Given the description of an element on the screen output the (x, y) to click on. 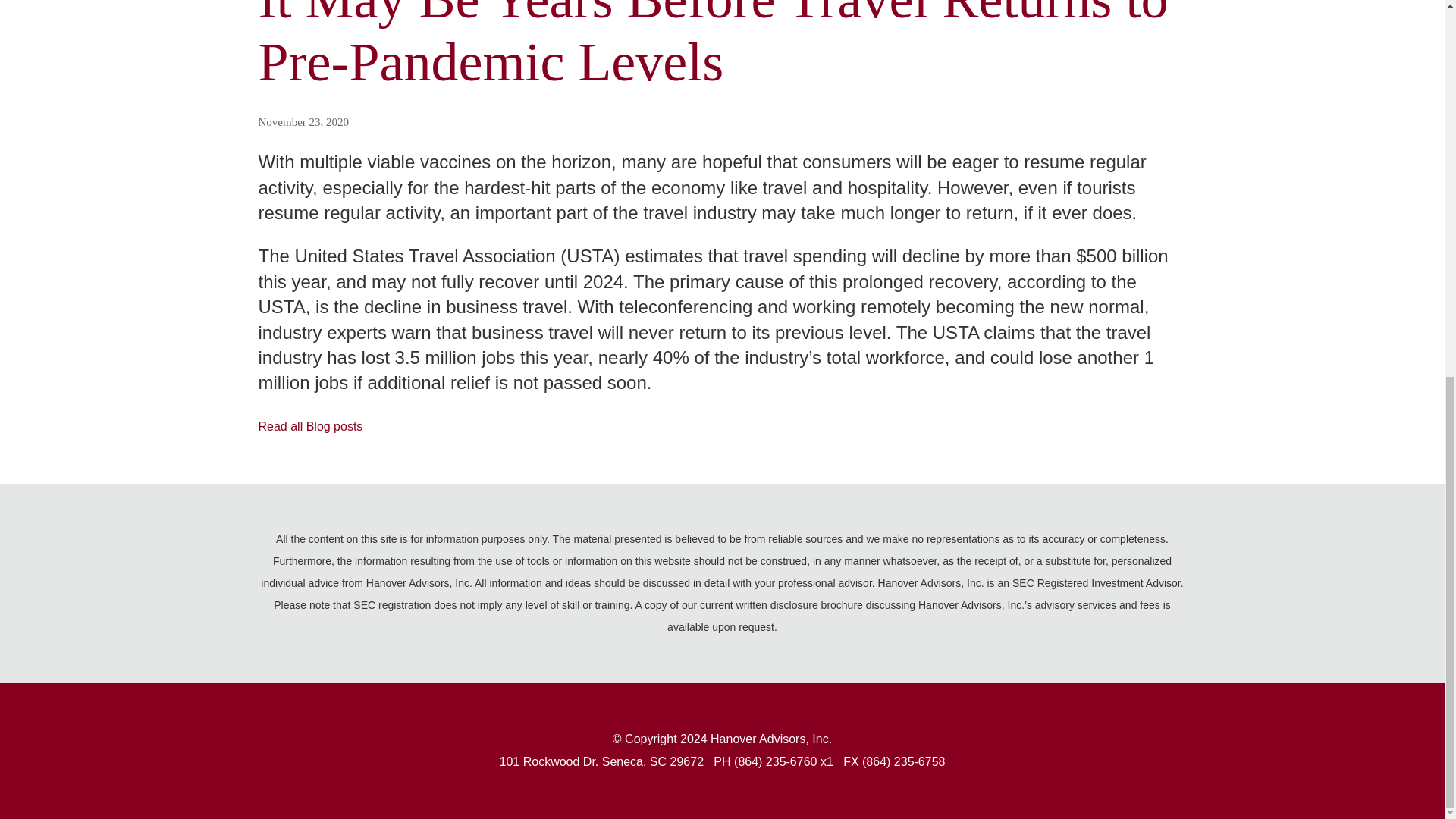
Read all Blog posts (309, 426)
